Given the description of an element on the screen output the (x, y) to click on. 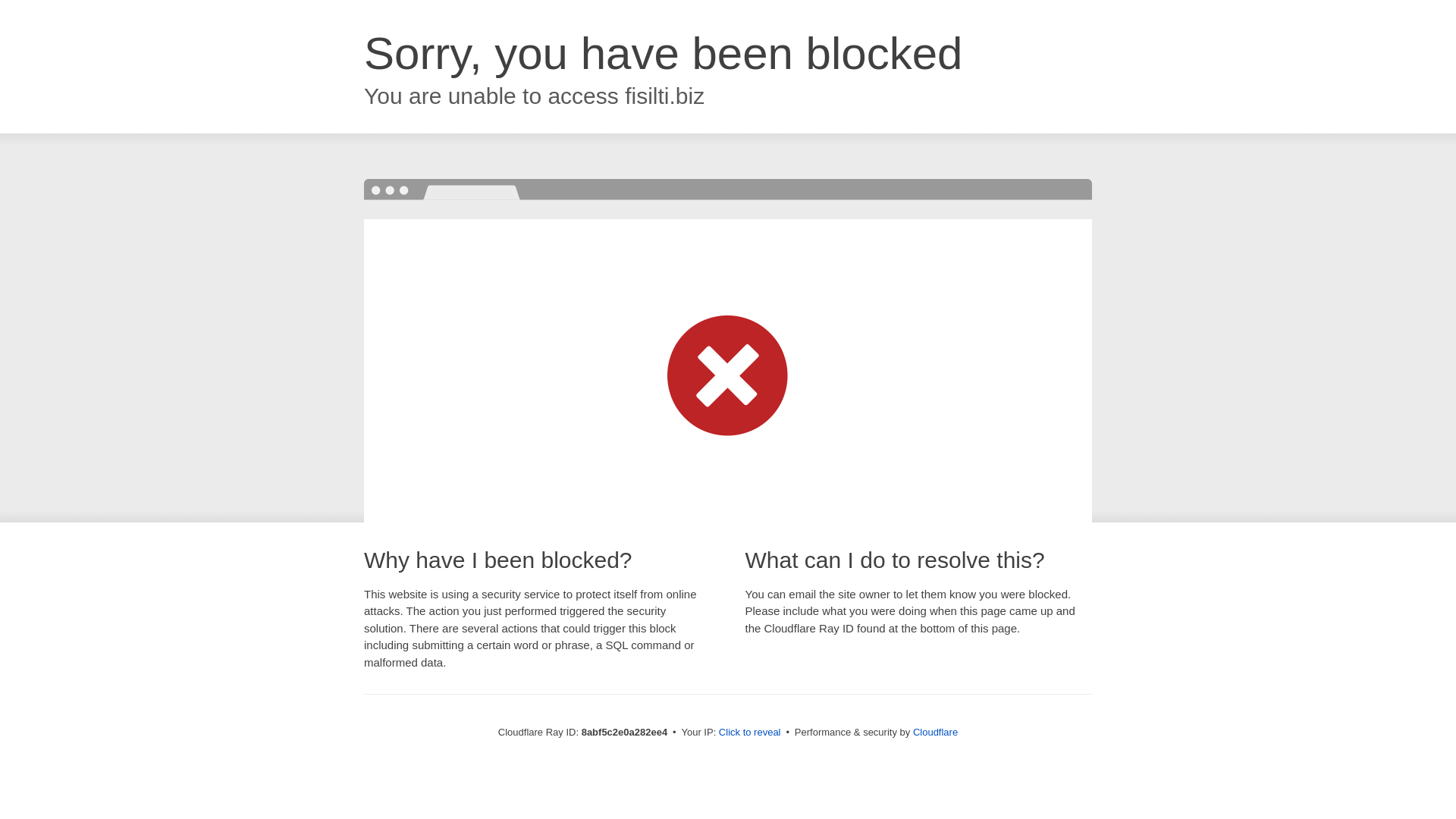
Cloudflare (935, 731)
Click to reveal (749, 732)
